Given the description of an element on the screen output the (x, y) to click on. 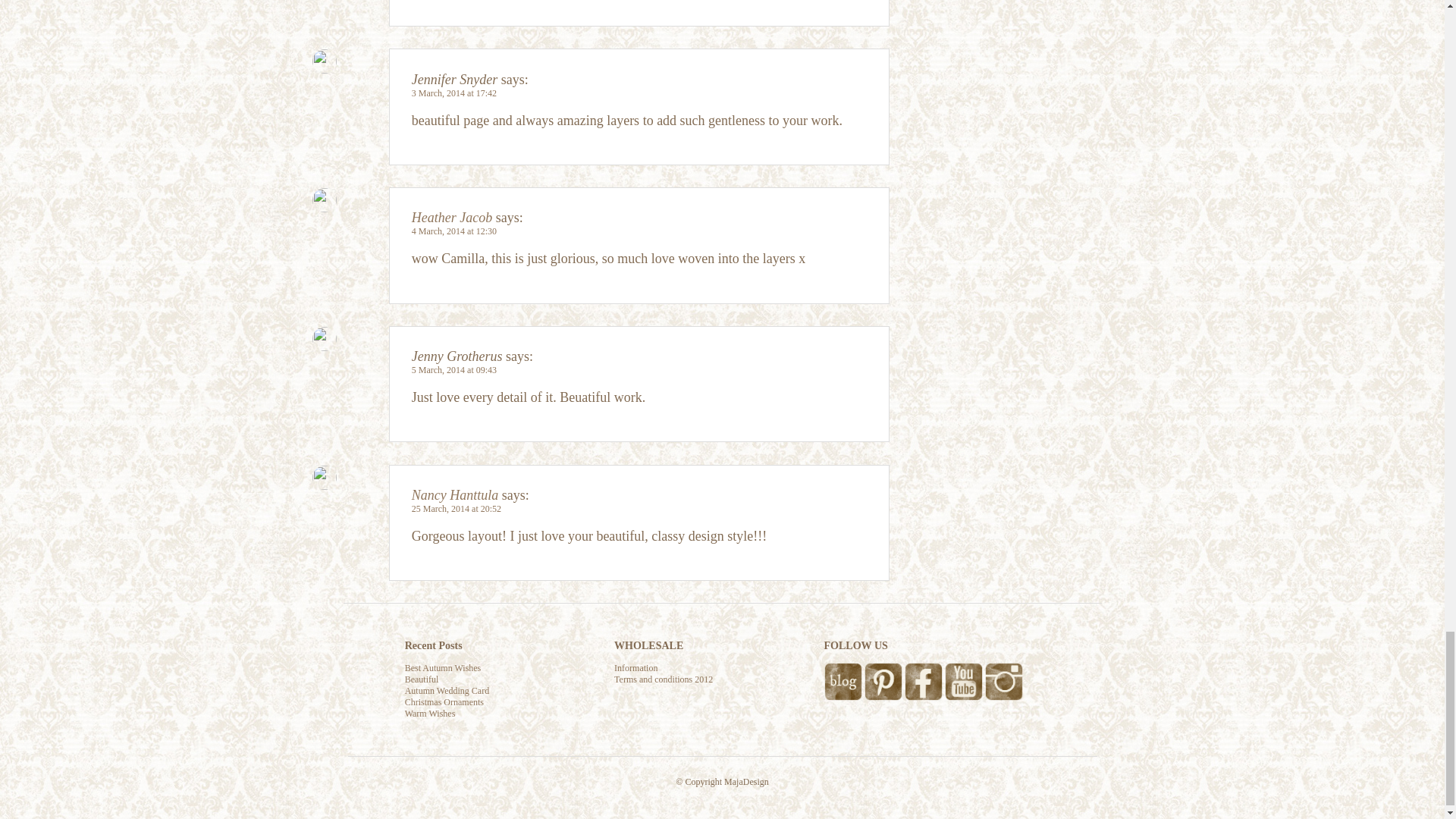
3 March, 2014 at 17:42 (454, 92)
Heather Jacob (452, 217)
Nancy Hanttula (455, 494)
5 March, 2014 at 09:43 (454, 369)
4 March, 2014 at 12:30 (454, 231)
25 March, 2014 at 20:52 (456, 508)
